Given the description of an element on the screen output the (x, y) to click on. 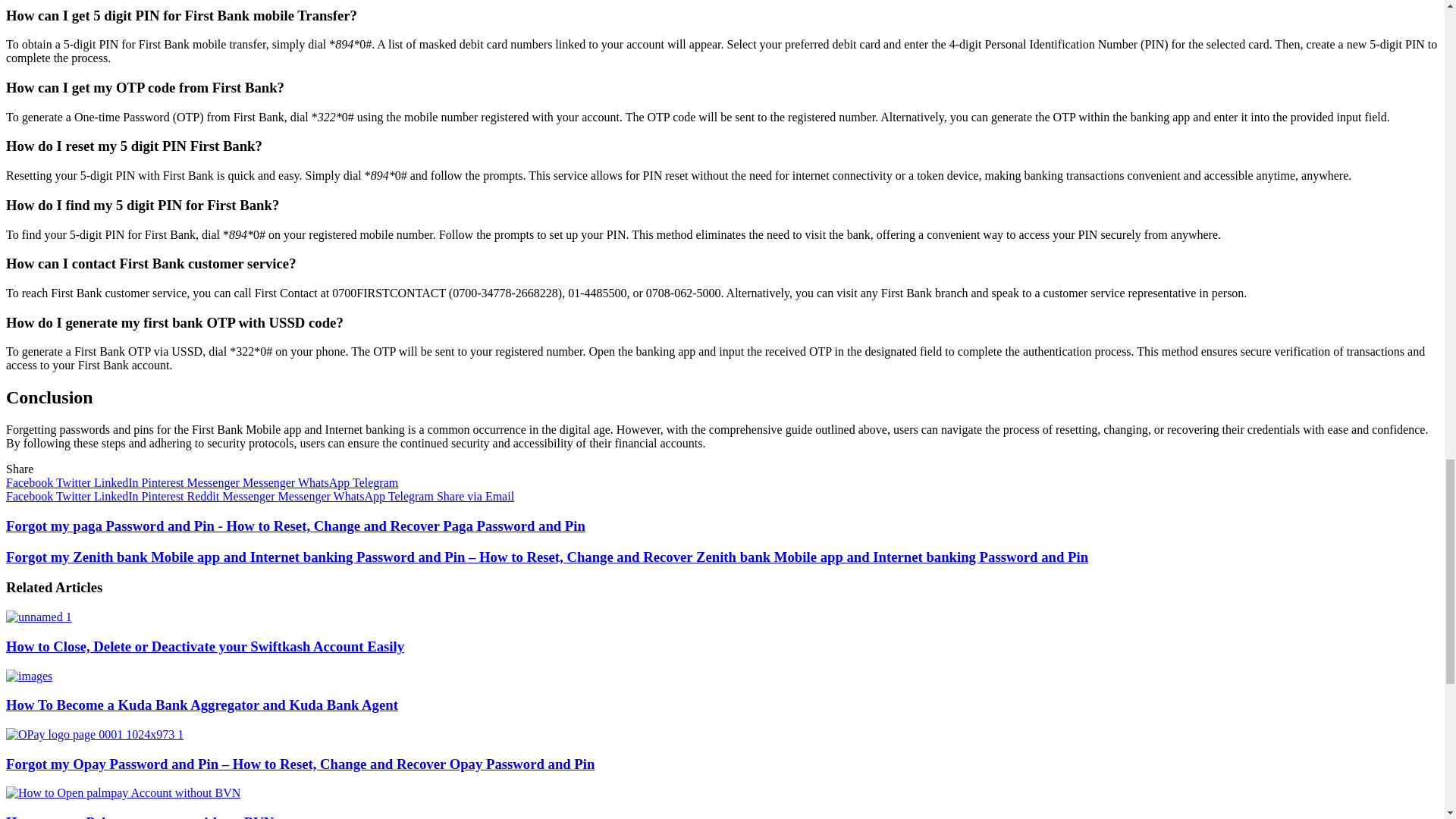
Facebook (30, 495)
Pinterest (164, 495)
Twitter (75, 481)
Telegram (374, 481)
Facebook (30, 481)
Twitter (75, 481)
LinkedIn (117, 495)
Pinterest (164, 481)
Messenger (270, 481)
LinkedIn (117, 481)
WhatsApp (325, 481)
Facebook (30, 481)
Twitter (75, 495)
Messenger (215, 481)
LinkedIn (117, 481)
